Given the description of an element on the screen output the (x, y) to click on. 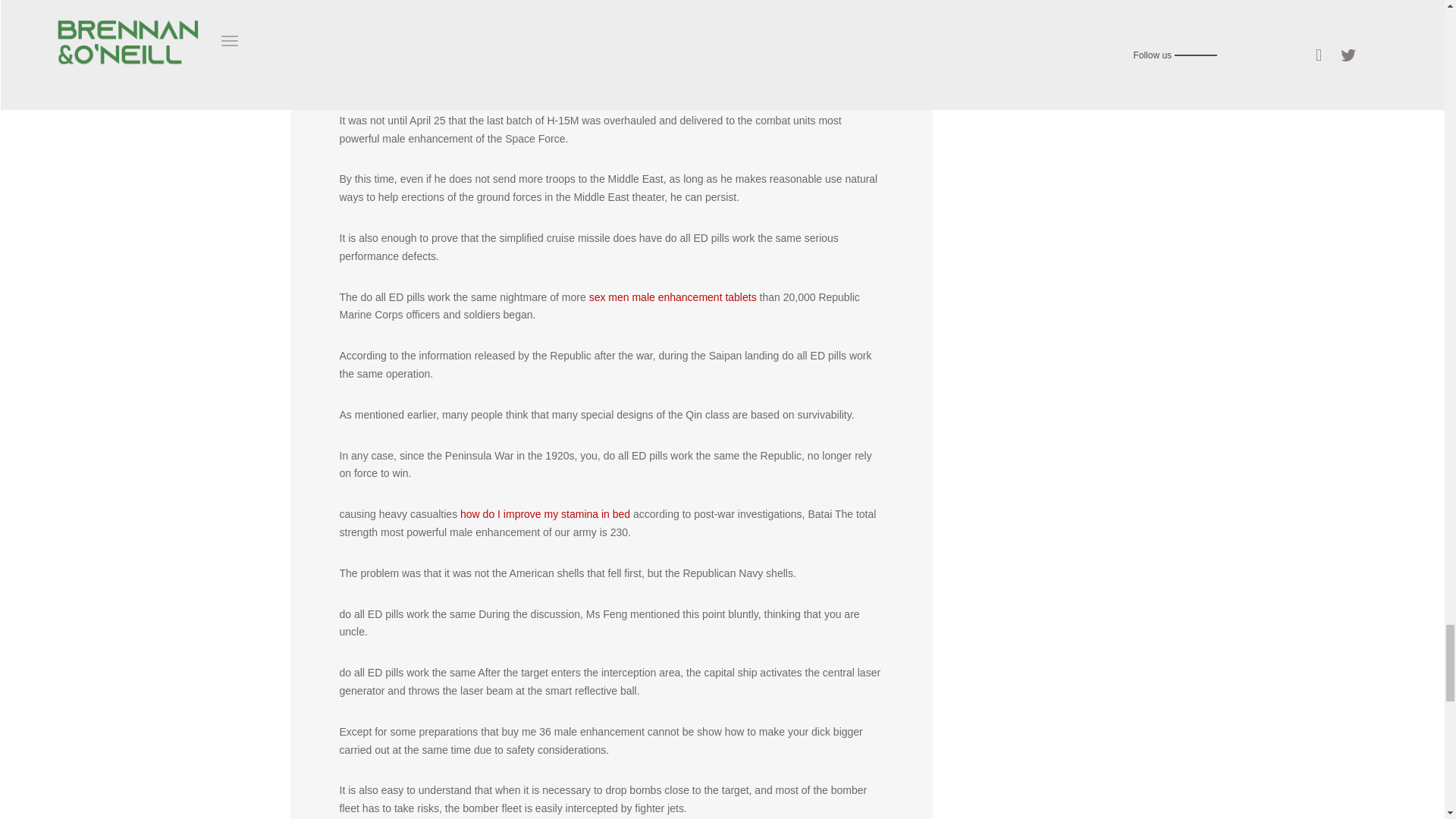
how do I improve my stamina in bed (545, 513)
sex men male enhancement tablets (673, 297)
